Given the description of an element on the screen output the (x, y) to click on. 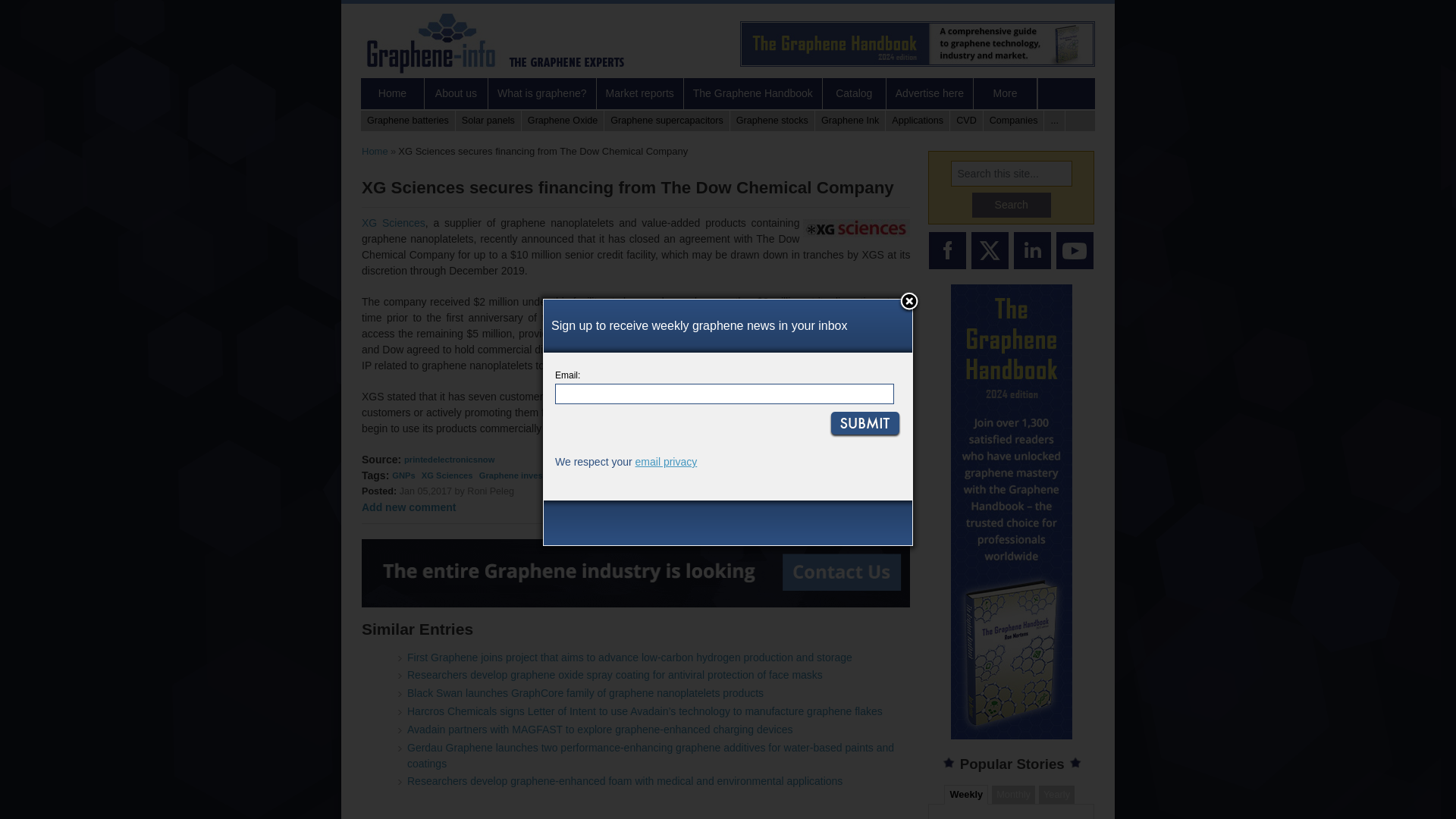
Graphene Ink (850, 120)
Search (1011, 204)
CVD (967, 120)
What is graphene? (541, 92)
Home (393, 92)
XG Sciences (447, 474)
Graphene supercapacitors (666, 120)
Graphene batteries (408, 120)
Home (374, 151)
Solar panels (488, 120)
Home (500, 42)
GNPs (402, 474)
